Given the description of an element on the screen output the (x, y) to click on. 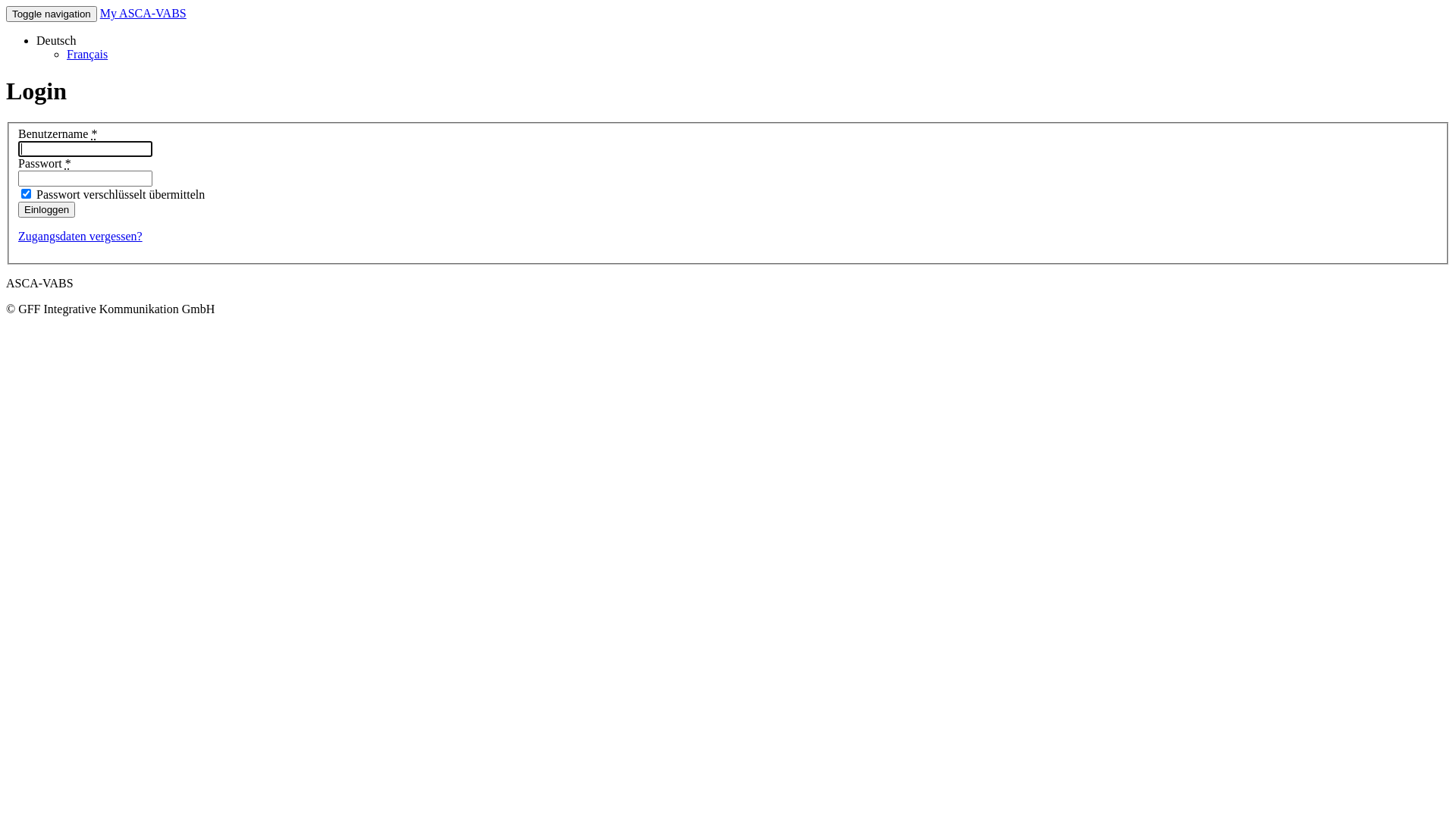
Toggle navigation Element type: text (51, 13)
Zugangsdaten vergessen? Element type: text (80, 235)
My ASCA-VABS Element type: text (143, 12)
Deutsch Element type: text (55, 40)
Einloggen Element type: text (46, 209)
